Given the description of an element on the screen output the (x, y) to click on. 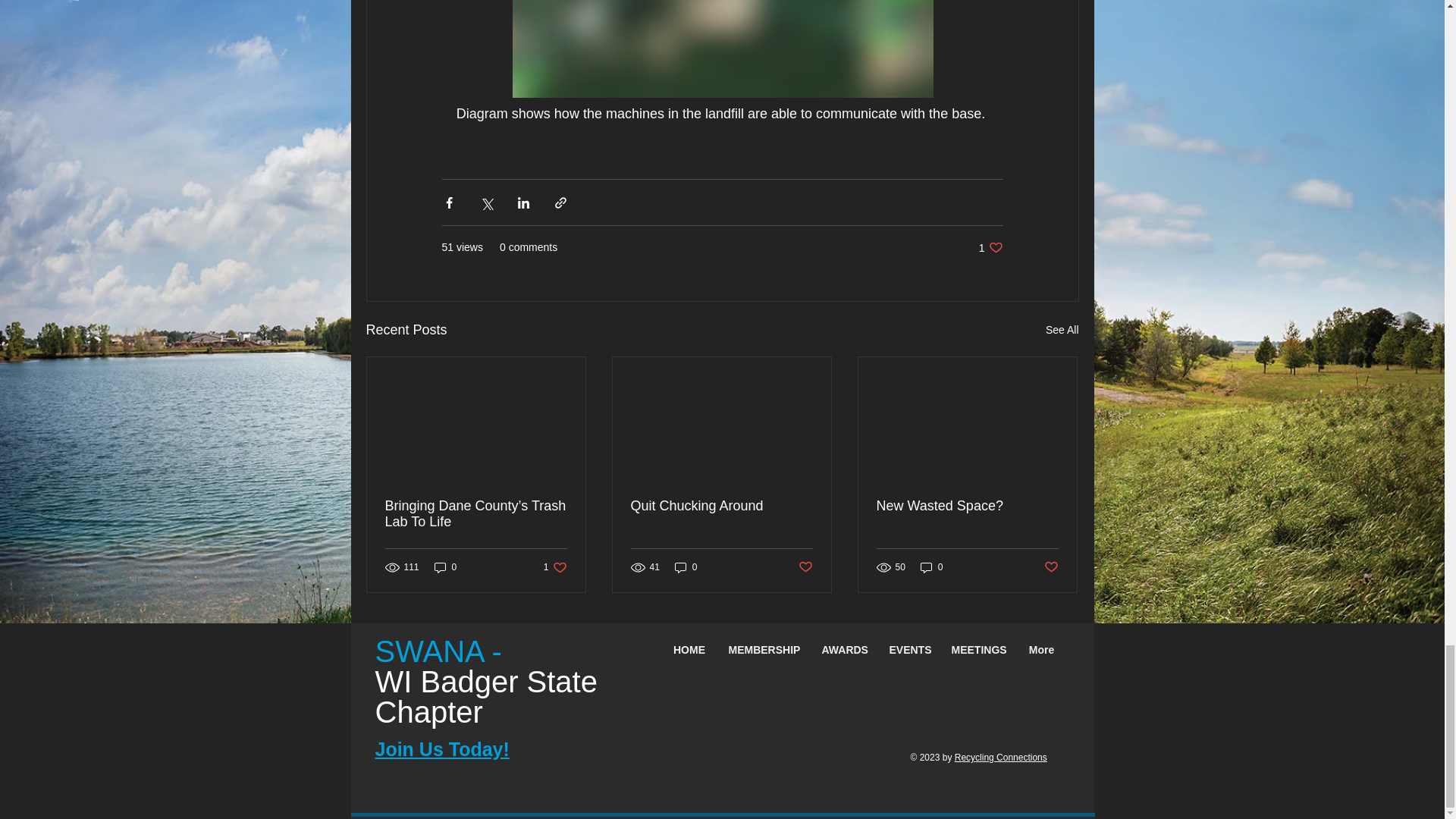
AWARDS (843, 650)
0 (931, 567)
MEMBERSHIP (763, 650)
Join Us Today! (441, 749)
Post not marked as liked (1050, 567)
New Wasted Space? (967, 505)
Quit Chucking Around (990, 247)
0 (721, 505)
See All (445, 567)
HOME (1061, 330)
Post not marked as liked (688, 650)
0 (804, 567)
